Given the description of an element on the screen output the (x, y) to click on. 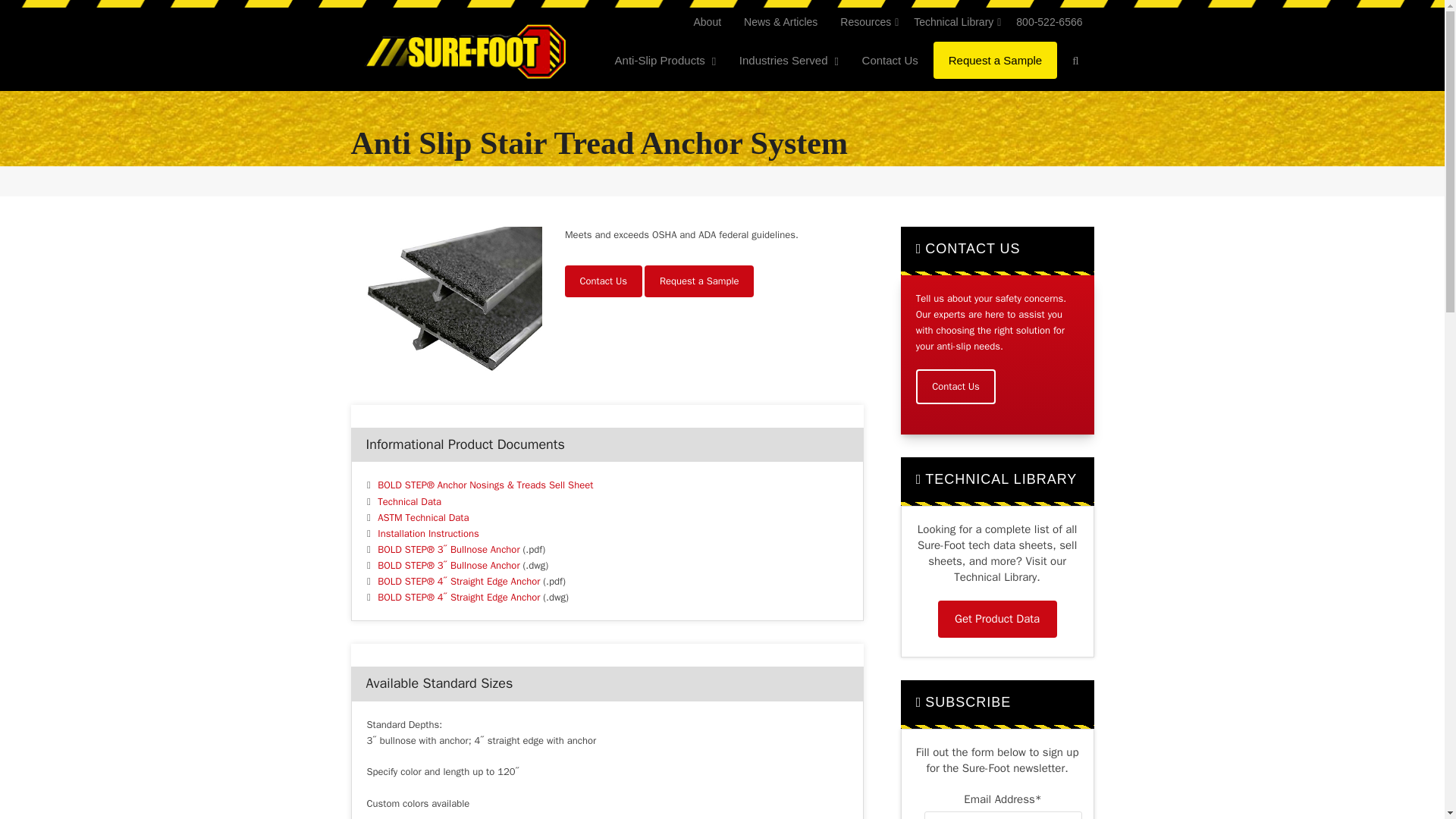
Resources (865, 21)
About (706, 21)
800-522-6566 (1048, 21)
Technical Library (953, 21)
Anti-Slip Products (661, 60)
